Given the description of an element on the screen output the (x, y) to click on. 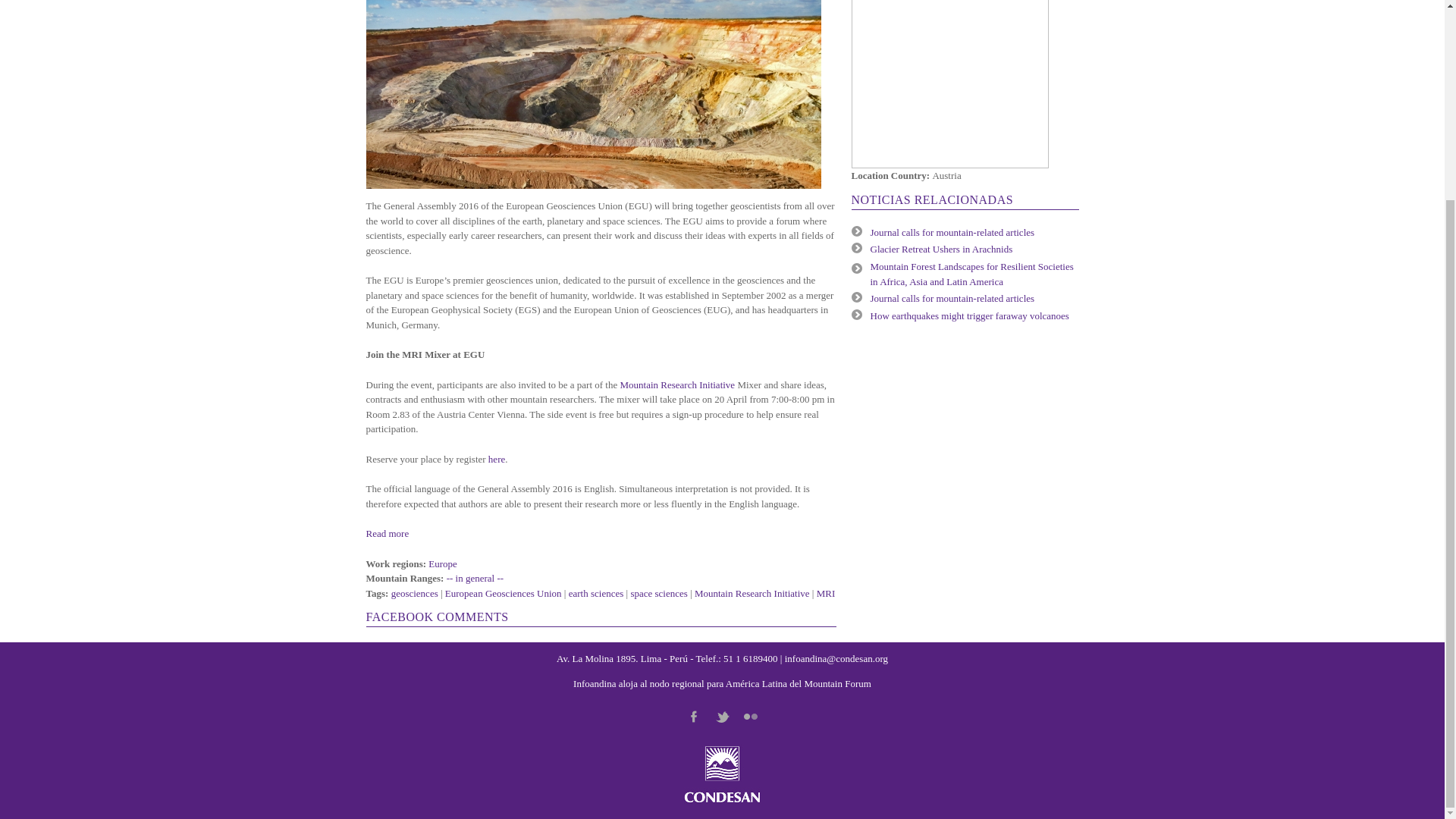
-- in general -- (474, 577)
Mountain Research Initiative (751, 592)
earth sciences (596, 592)
geosciences (414, 592)
space sciences (658, 592)
Read more (387, 532)
Europe (442, 563)
How earthquakes might trigger faraway volcanoes (969, 315)
here (496, 459)
MRI (825, 592)
European Geosciences Union (503, 592)
Glacier Retreat Ushers in Arachnids (941, 248)
Journal calls for mountain-related articles (952, 231)
Mountain Research Initiative (677, 384)
